Given the description of an element on the screen output the (x, y) to click on. 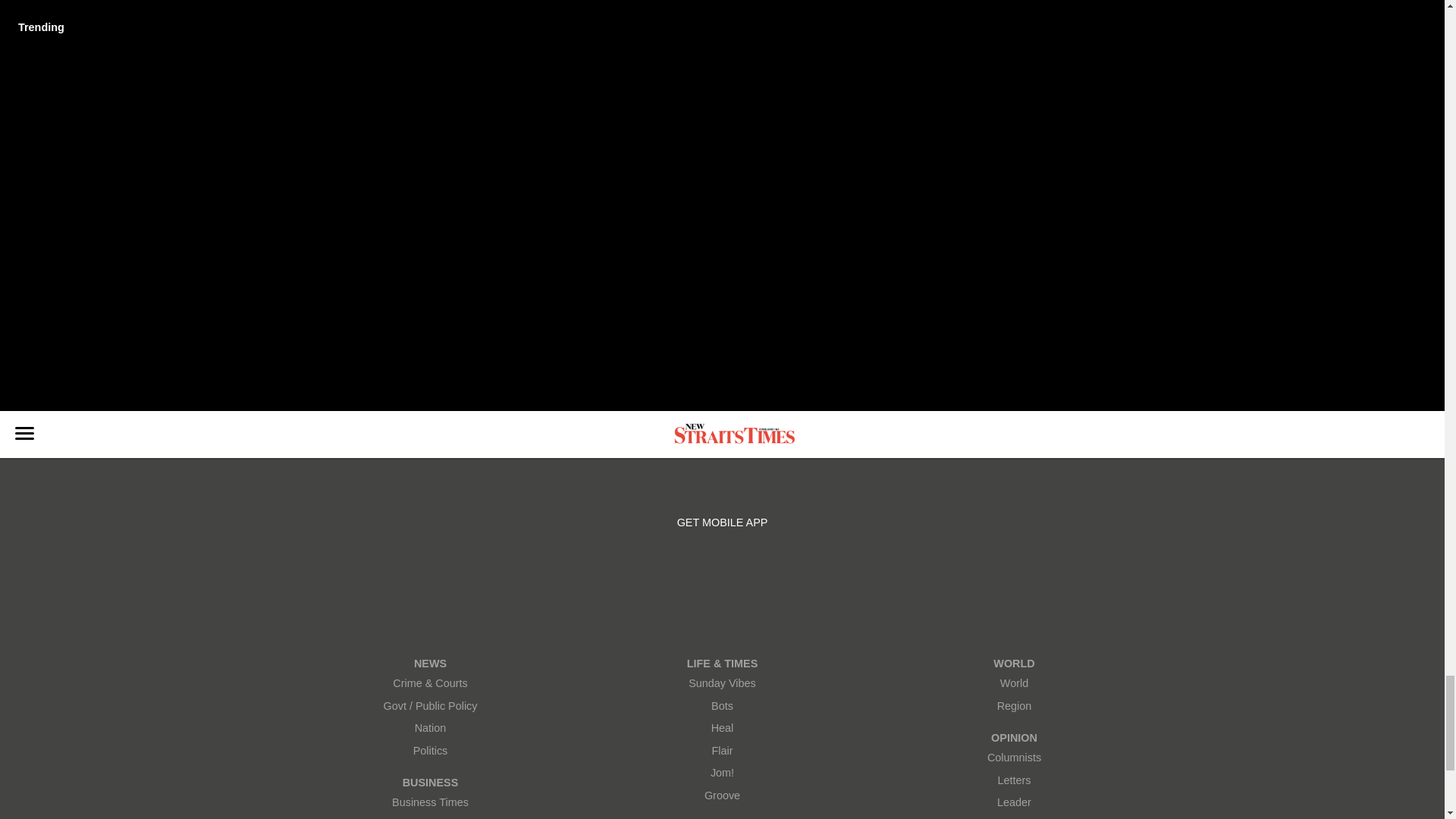
BUSINESS (429, 782)
Politics (429, 751)
Business Times (429, 802)
Nation (429, 728)
NEWS (429, 663)
